Given the description of an element on the screen output the (x, y) to click on. 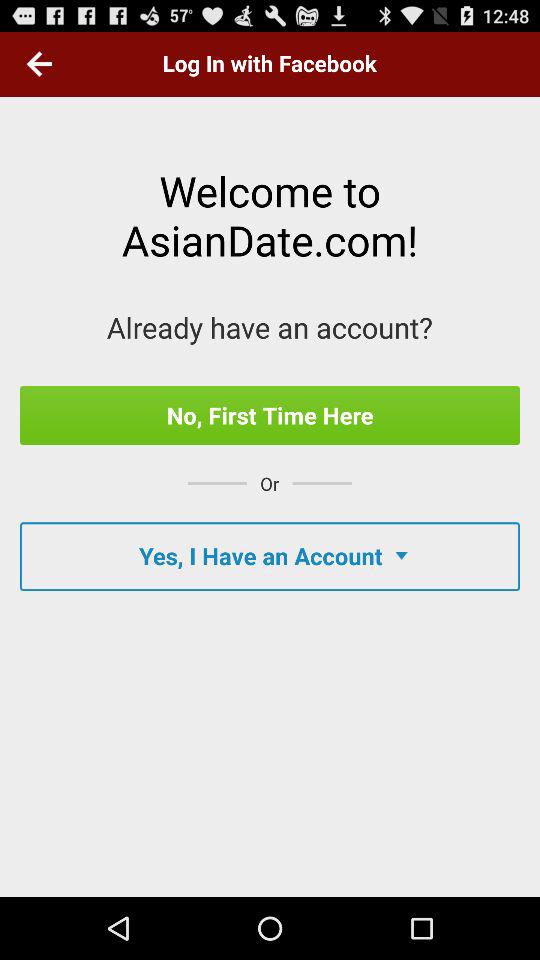
turn on item above the or app (269, 415)
